Given the description of an element on the screen output the (x, y) to click on. 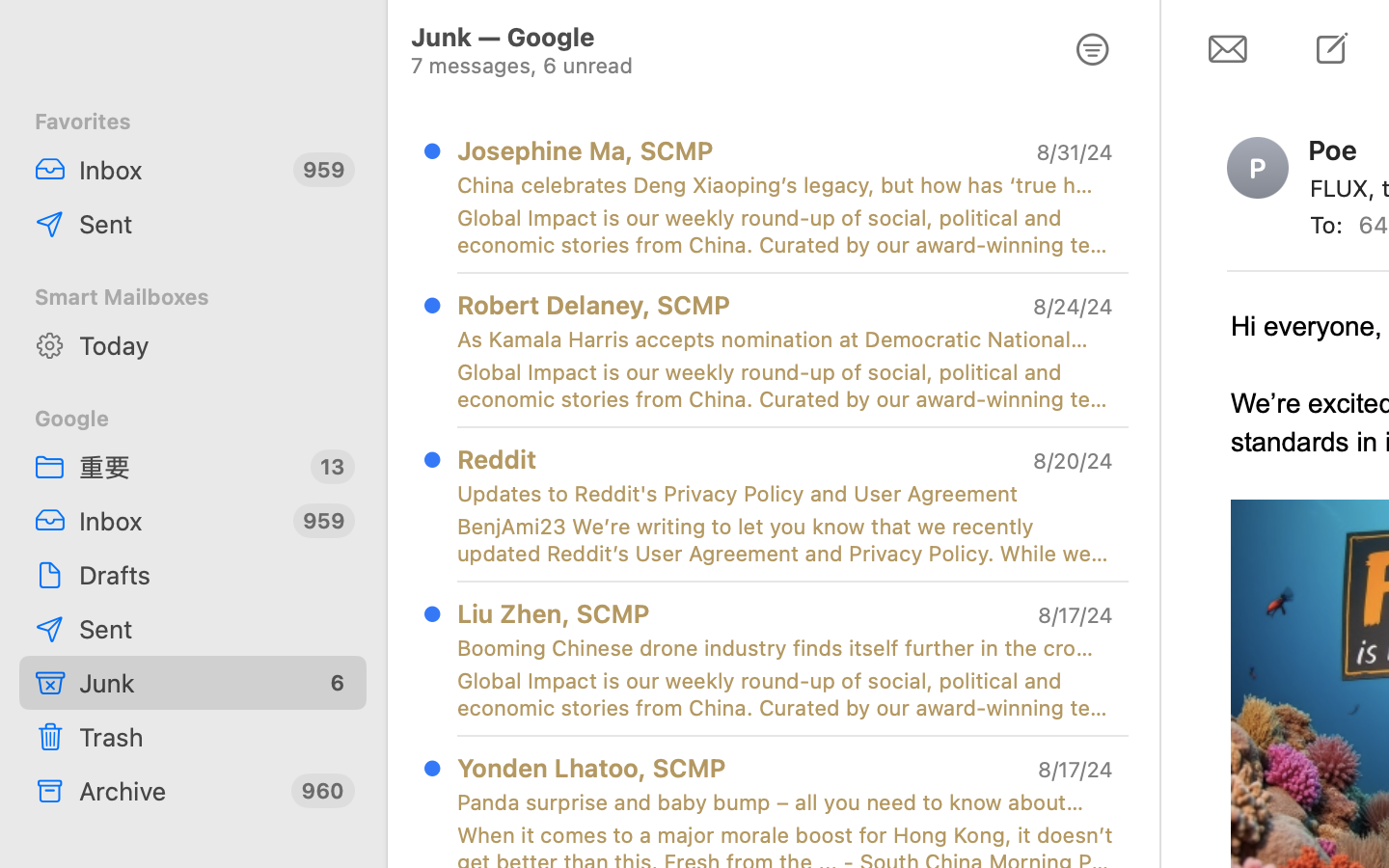
BenjAmi23 We’re writing to let you know that we recently updated Reddit’s User Agreement and Privacy Policy. While we encourage you to review the updated documents in full, here are some of the highlights: We reorganized sections of our Privacy Policy for improved clarity. We included language in the Privacy Policy to reflect our participation in the EU-US Data Privacy Framework. We clarified what content you submit is non-public. We updated the Privacy Policy to better reflect our current products, like Reddit Pro. For users in the EEA, United Kingdom, and Switzerland, we updated the User Agreement to reflect that the Reddit products and services are provided by Reddit Netherlands B.V. Updates to our Privacy Policy take effect immediately. The updated User Agreement takes effect September 16, 2024 and will apply to you if you use Reddit after that date. For more information about how we handle information that is made public on Reddit, please see our Public Content Policy. If you have Element type: AXStaticText (784, 540)
Liu Zhen, SCMP Element type: AXStaticText (553, 612)
Trash Element type: AXStaticText (214, 736)
